Given the description of an element on the screen output the (x, y) to click on. 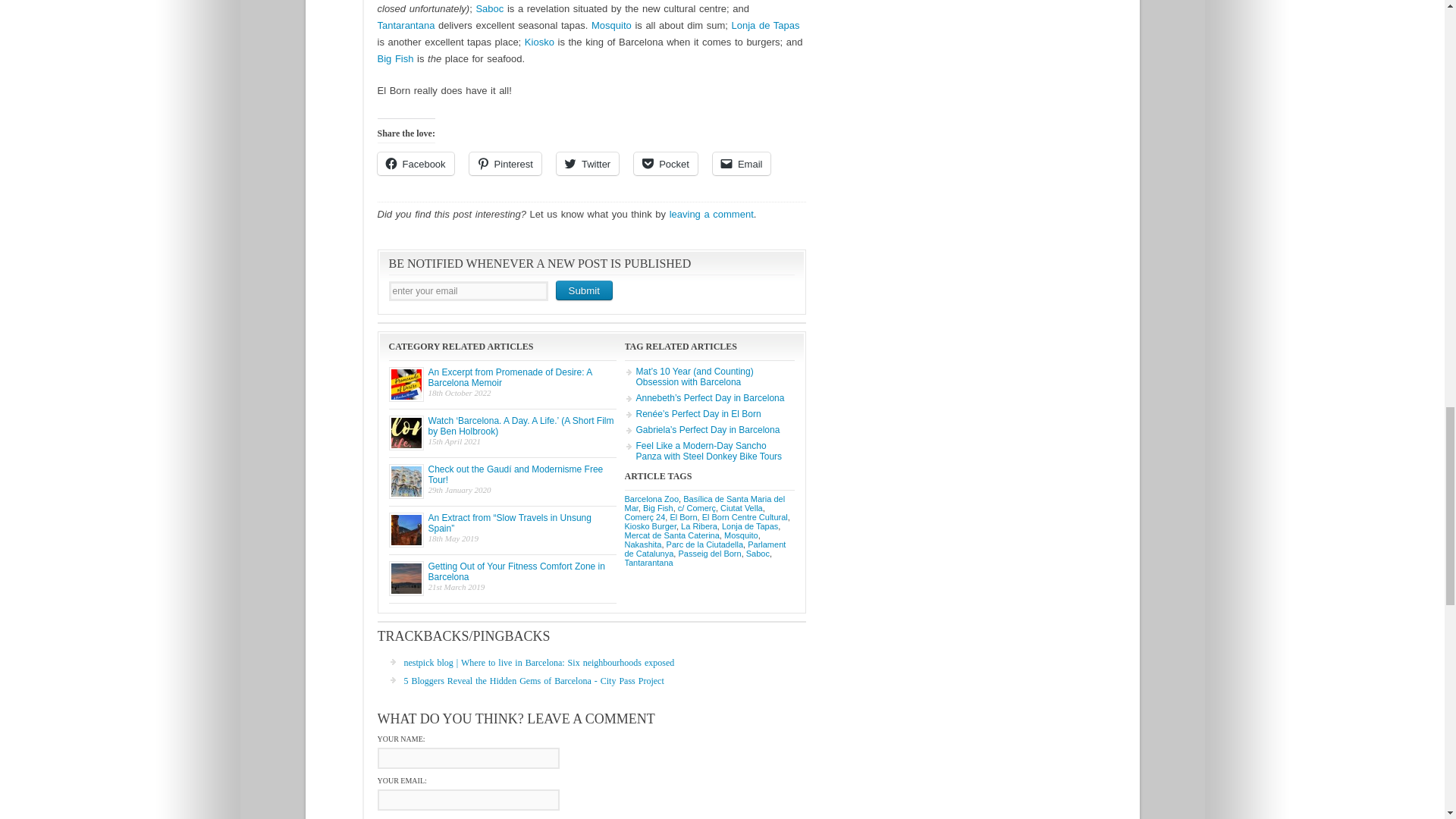
leaving a comment (711, 214)
Twitter (587, 163)
Mosquito (611, 25)
Big Fish (395, 58)
enter your email (467, 291)
Tantarantana (406, 25)
Pocket (665, 163)
An Excerpt from Promenade of Desire: A Barcelona Memoir (509, 377)
Pinterest (504, 163)
Submit (582, 290)
